Given the description of an element on the screen output the (x, y) to click on. 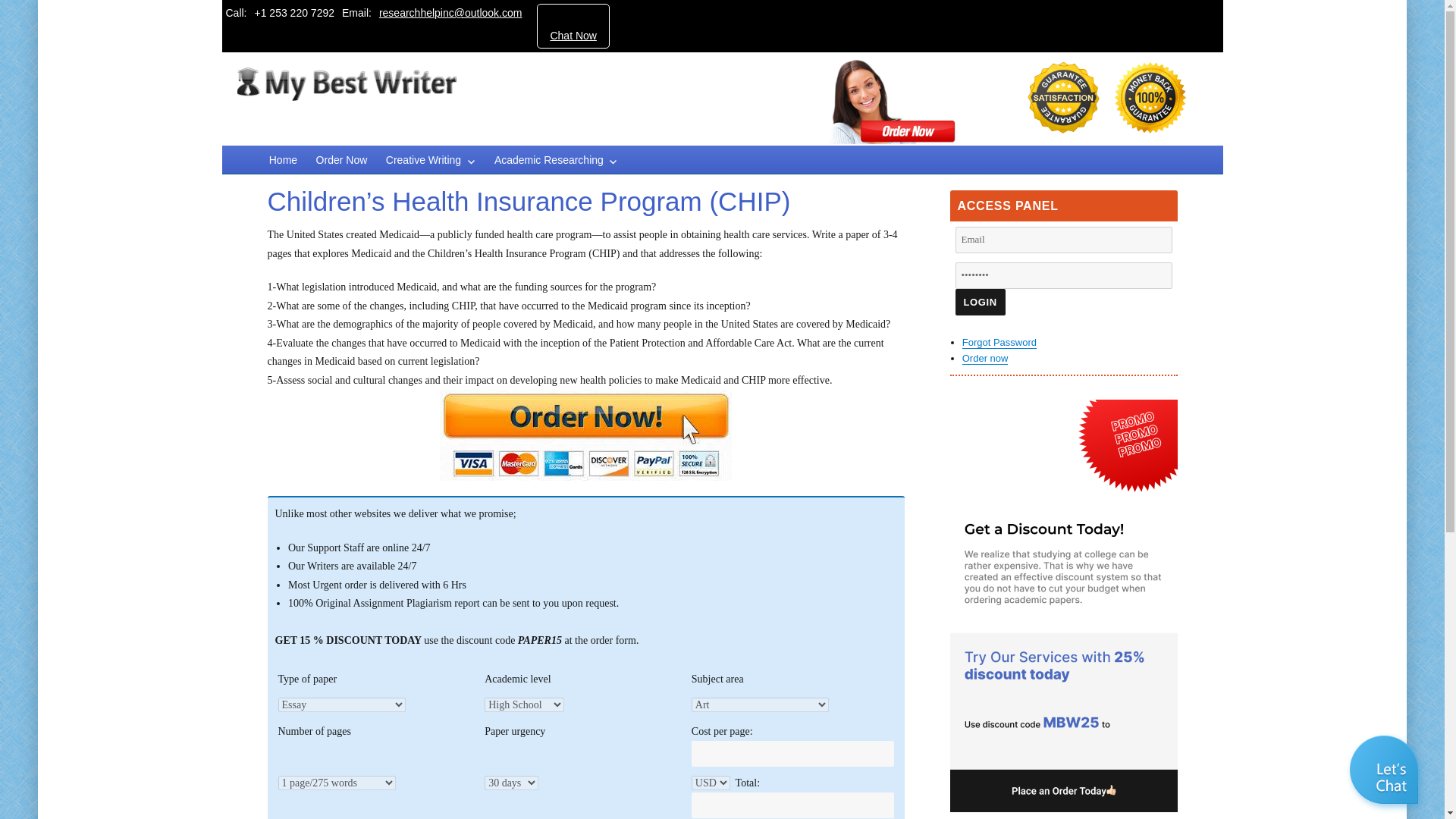
Home (282, 159)
Paper urgency (511, 782)
Login (980, 302)
Password (1063, 275)
Order now (985, 357)
Order total (792, 805)
Type of paper (379, 705)
Cost per page (792, 753)
Creative Writing (430, 159)
Academic Researching (555, 159)
Login (980, 302)
Academic level (524, 704)
Chat Now (572, 35)
Number of pages (336, 782)
Subject area (759, 704)
